Given the description of an element on the screen output the (x, y) to click on. 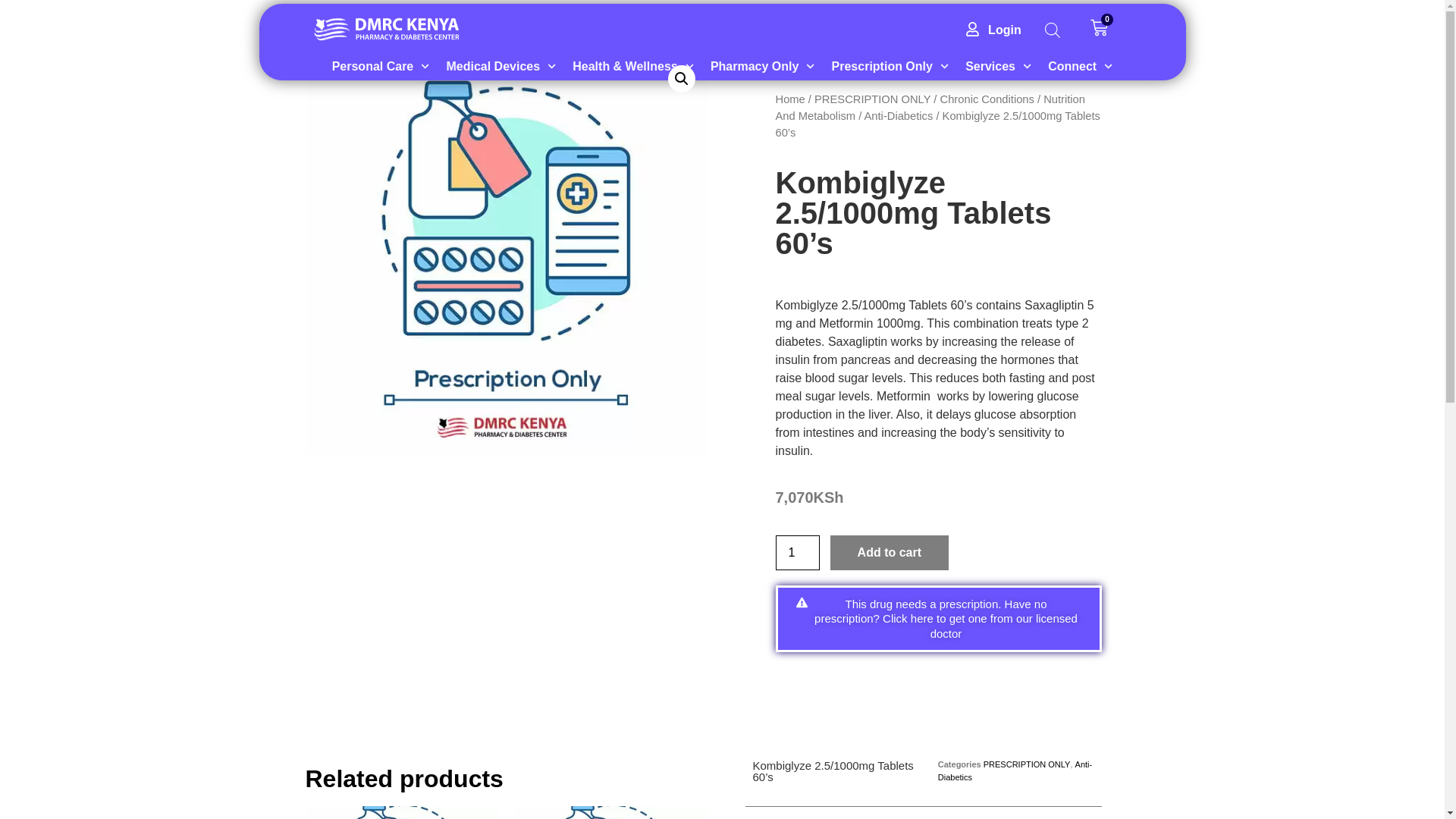
Login (991, 0)
Personal Care (380, 42)
1 (796, 552)
